Given the description of an element on the screen output the (x, y) to click on. 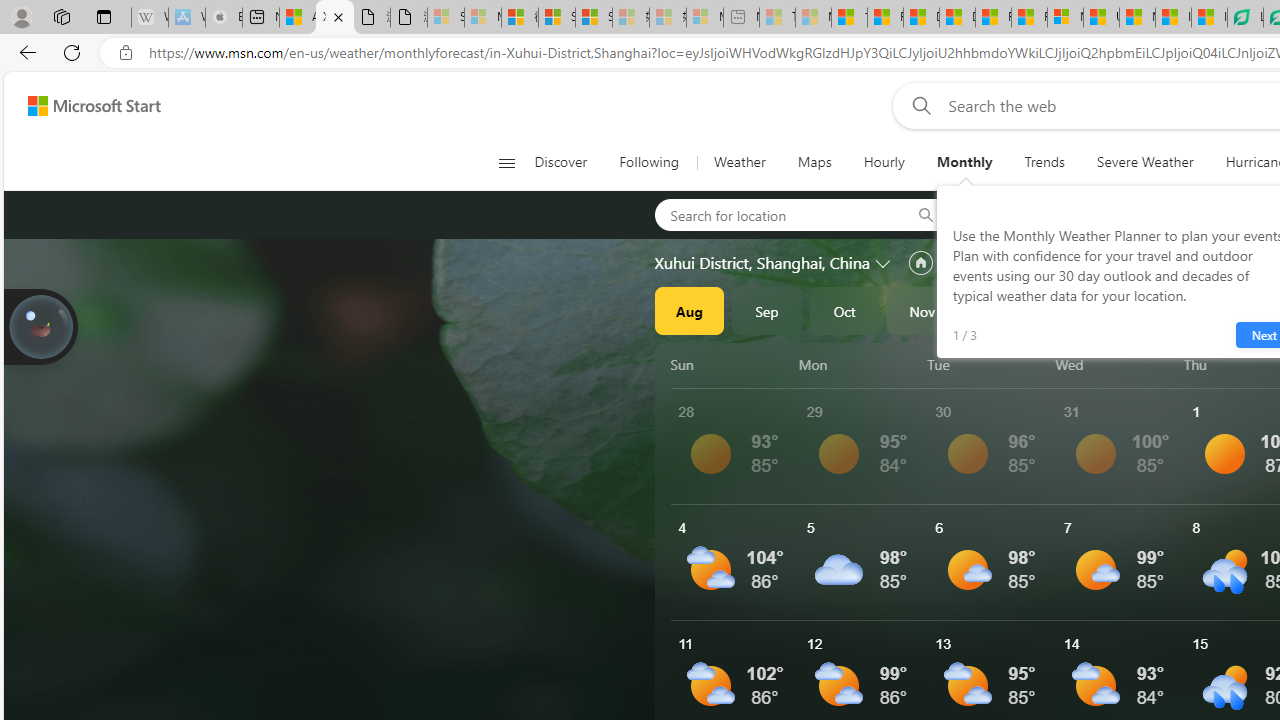
Marine life - MSN - Sleeping (813, 17)
Aug (689, 310)
Join us in planting real trees to help our planet! (40, 325)
Monthly (964, 162)
Xuhui District, Shanghai, China (762, 263)
